Given the description of an element on the screen output the (x, y) to click on. 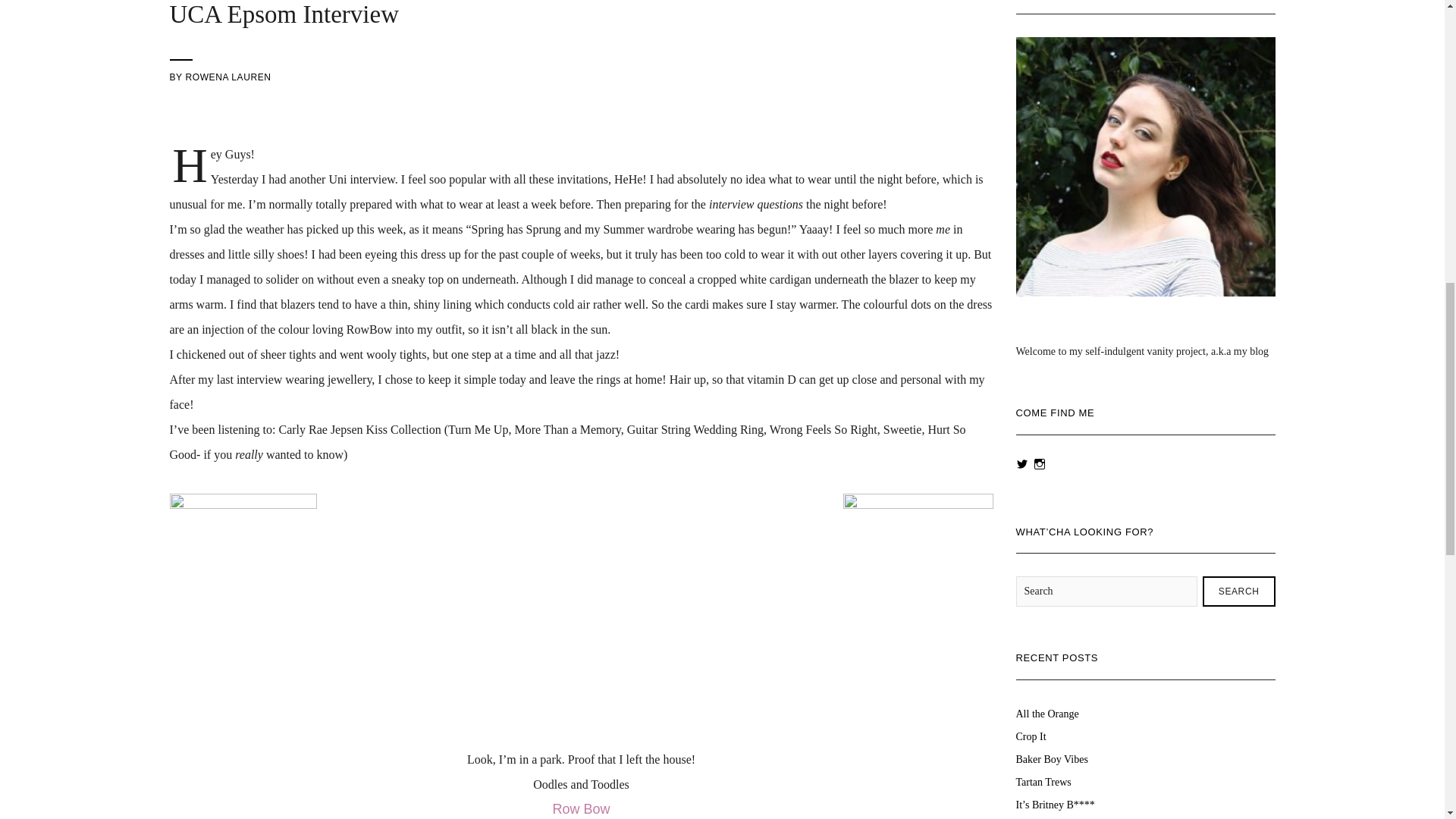
ROWENA LAUREN (227, 77)
